Given the description of an element on the screen output the (x, y) to click on. 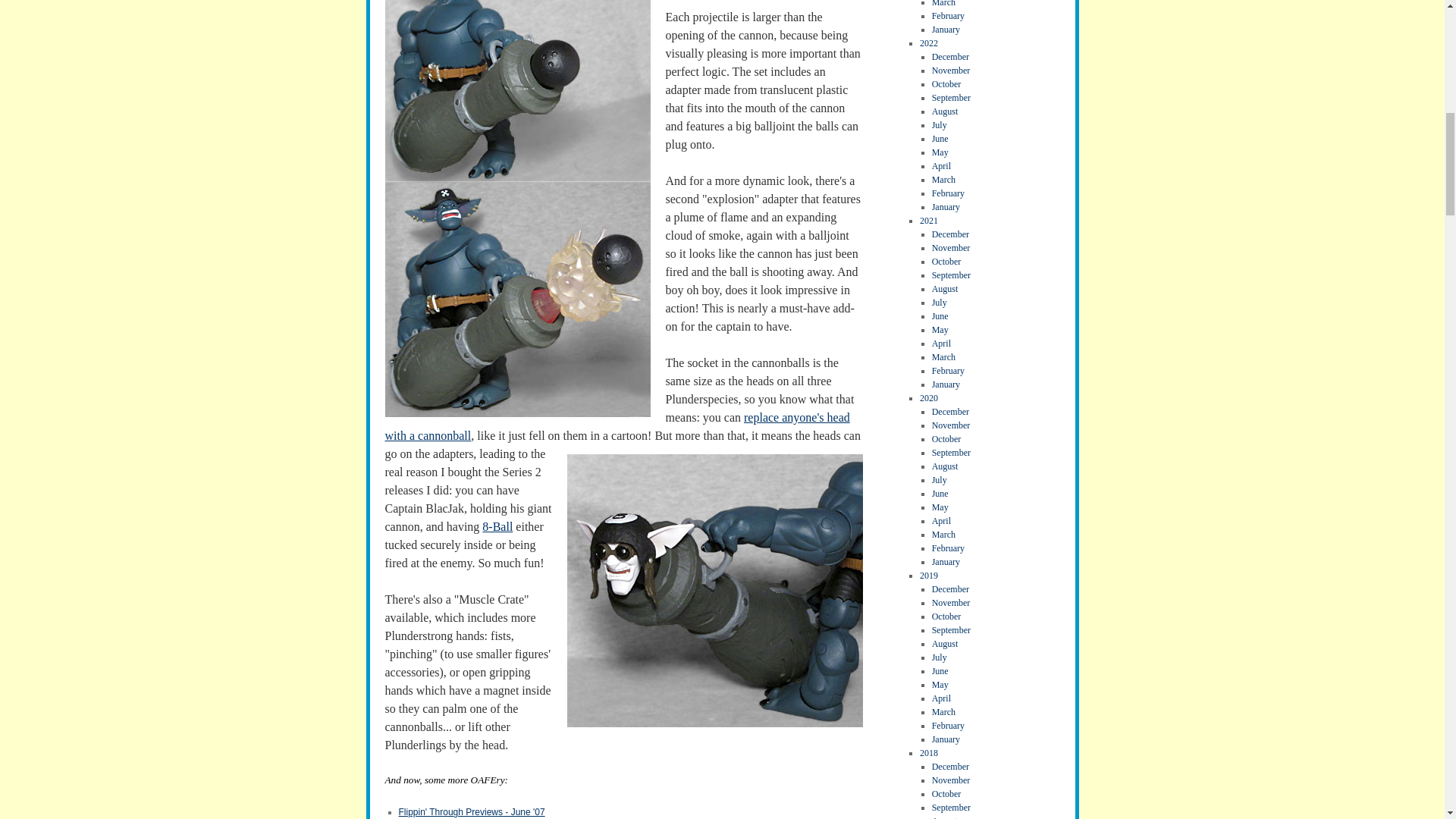
Flippin' Through Previews - June '07 (471, 811)
8-Ball (496, 526)
replace anyone's head with a cannonball (617, 426)
Flippin' Through Previews - June '07 (471, 811)
Fire me, boy! (715, 590)
